Given the description of an element on the screen output the (x, y) to click on. 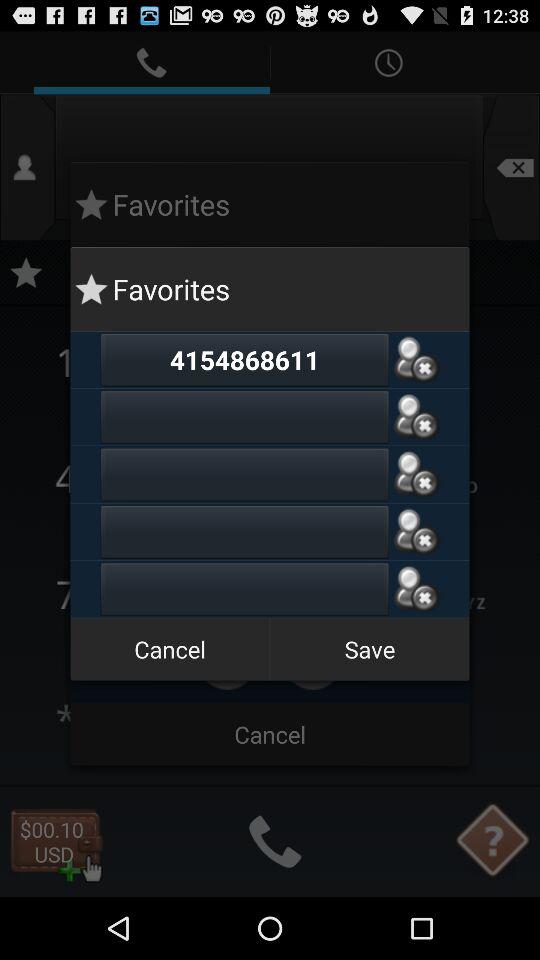
enter phone number (244, 531)
